Given the description of an element on the screen output the (x, y) to click on. 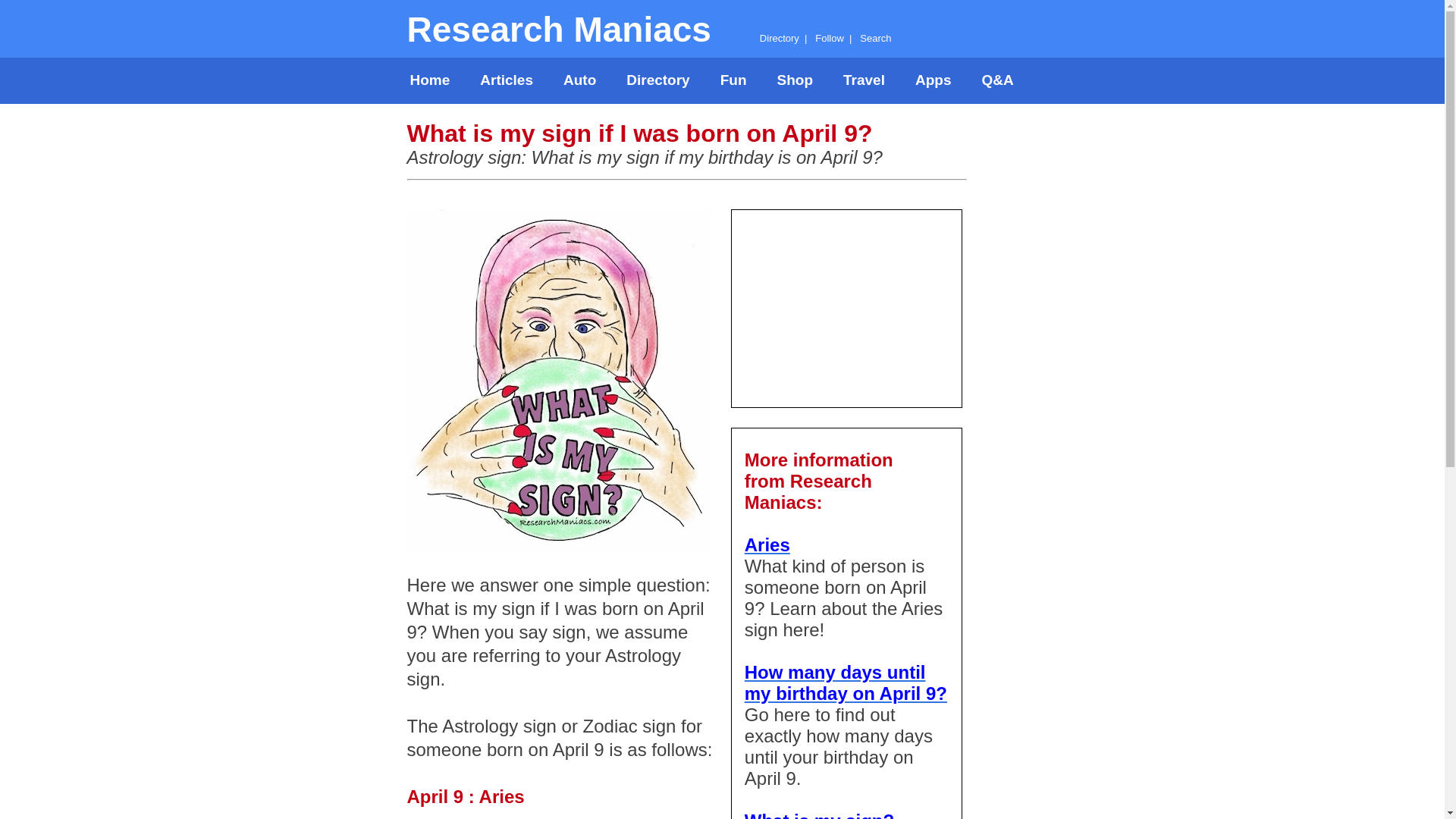
Shop (794, 80)
Home (429, 80)
Apps (932, 80)
Auto (579, 80)
Directory (779, 38)
Search (875, 38)
How many days until my birthday on April 9? (845, 682)
Directory (657, 80)
Aries (767, 544)
Advertisement (846, 304)
Follow (829, 38)
Travel (863, 80)
Fun (732, 80)
What is my sign? (818, 814)
Articles (506, 80)
